Given the description of an element on the screen output the (x, y) to click on. 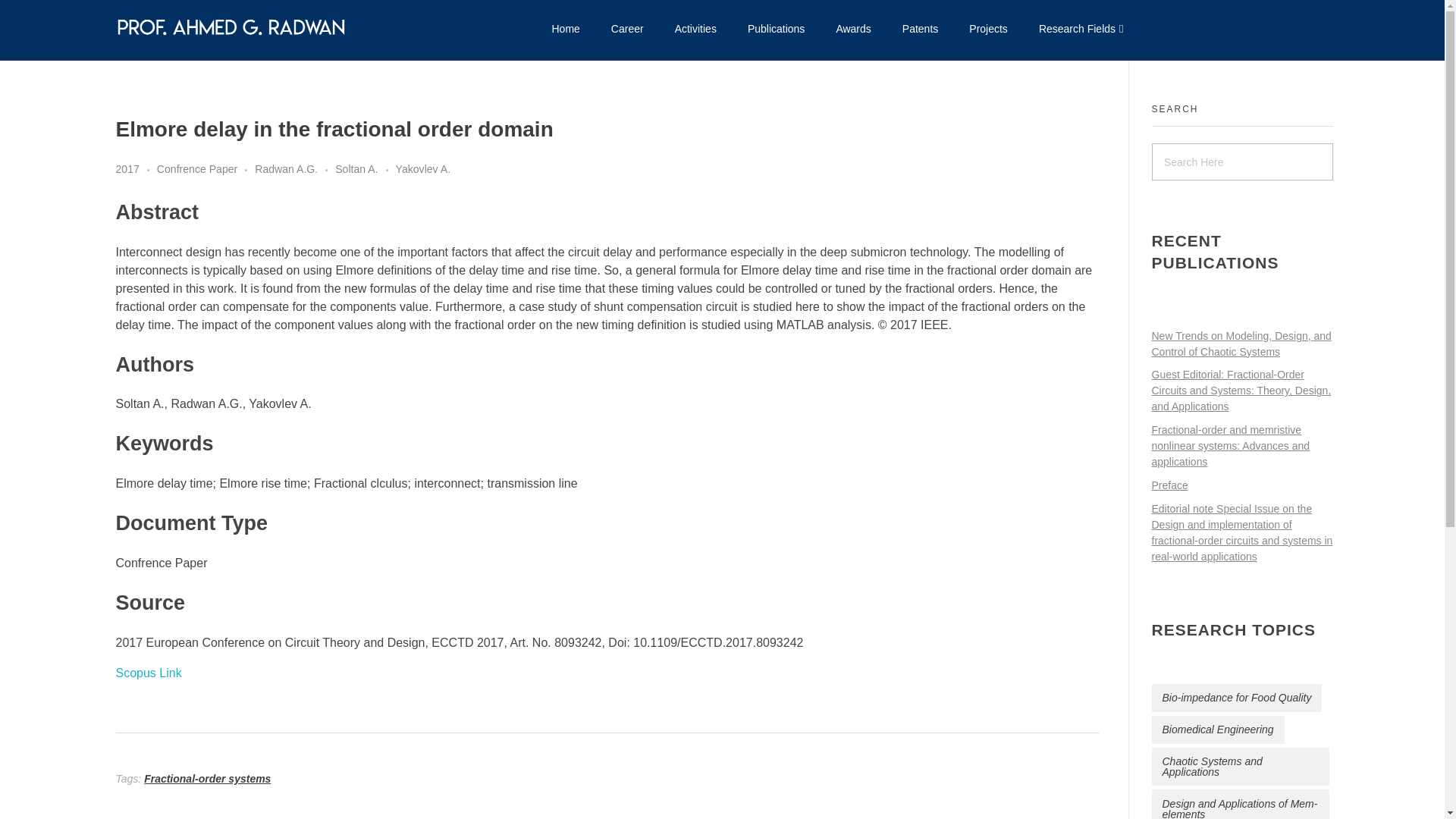
Awards (853, 28)
Radwan A.G. (294, 169)
Career (627, 28)
2017 (135, 169)
Publications (776, 28)
View all posts in Confrence Paper (205, 169)
View all posts in Yakovlev A. (423, 169)
View all posts in Radwan A.G. (294, 169)
Prof. Ahmed G. Radwan (230, 26)
Prof. Ahmed G. Radwan (218, 49)
Activities (695, 28)
Projects (988, 28)
View all posts in 2017 (135, 169)
Patents (919, 28)
View all posts in Soltan A. (364, 169)
